Given the description of an element on the screen output the (x, y) to click on. 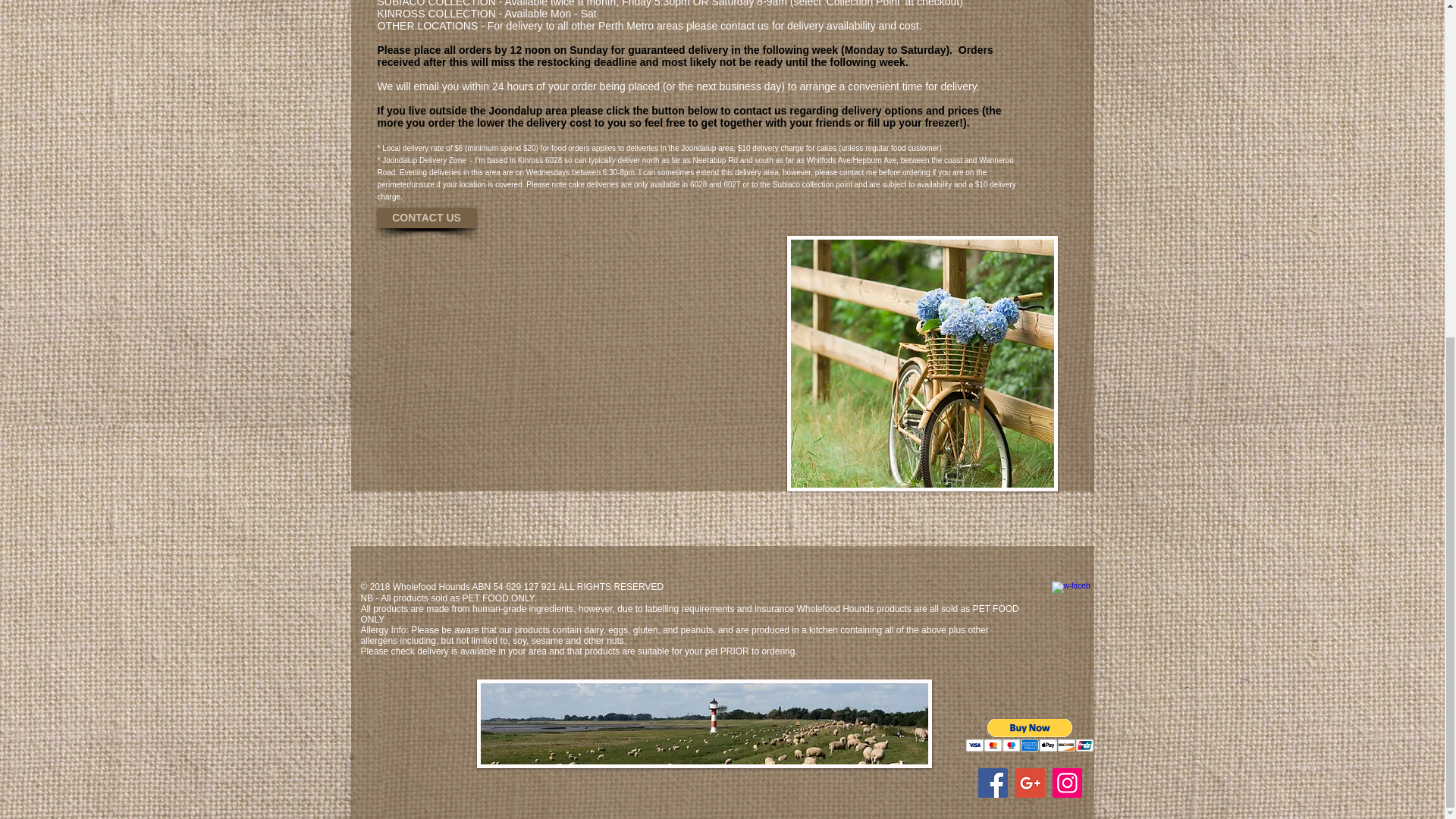
CONTACT US (426, 218)
